Given the description of an element on the screen output the (x, y) to click on. 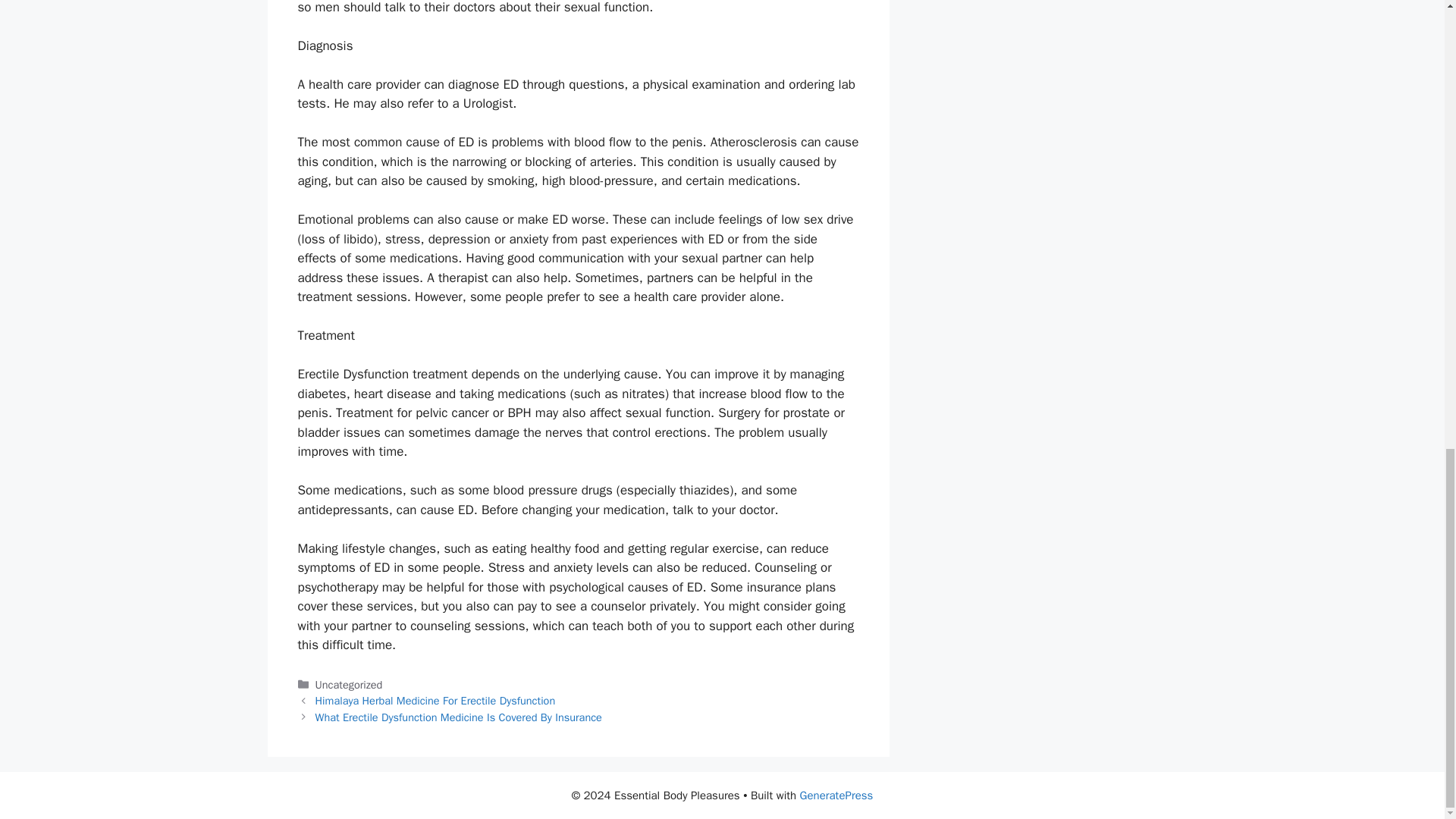
What Erectile Dysfunction Medicine Is Covered By Insurance (458, 716)
GeneratePress (836, 795)
Himalaya Herbal Medicine For Erectile Dysfunction (435, 700)
